Given the description of an element on the screen output the (x, y) to click on. 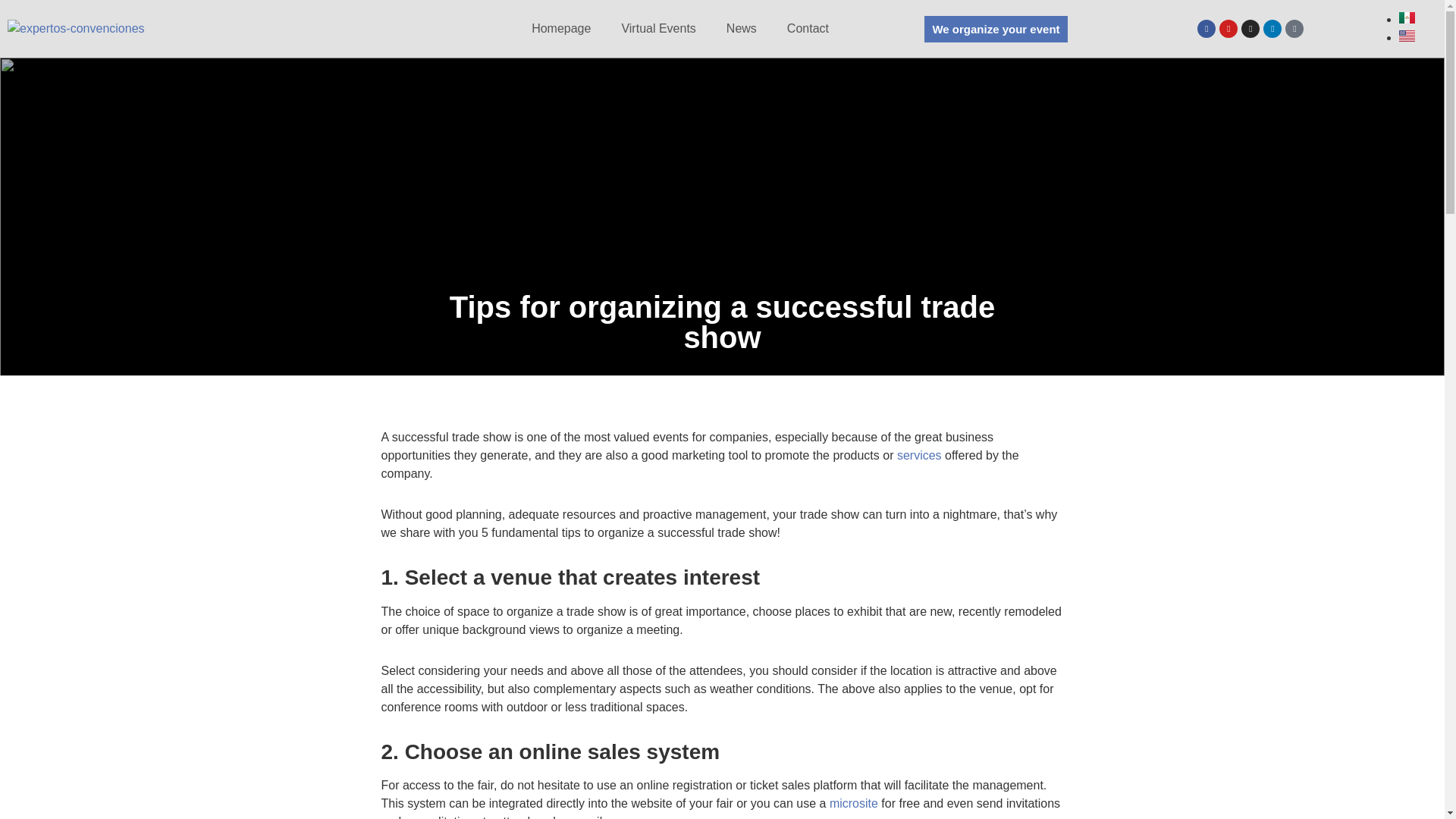
News (741, 28)
Contact (806, 28)
Virtual Events (657, 28)
Homepage (561, 28)
We organize your event (995, 28)
